Given the description of an element on the screen output the (x, y) to click on. 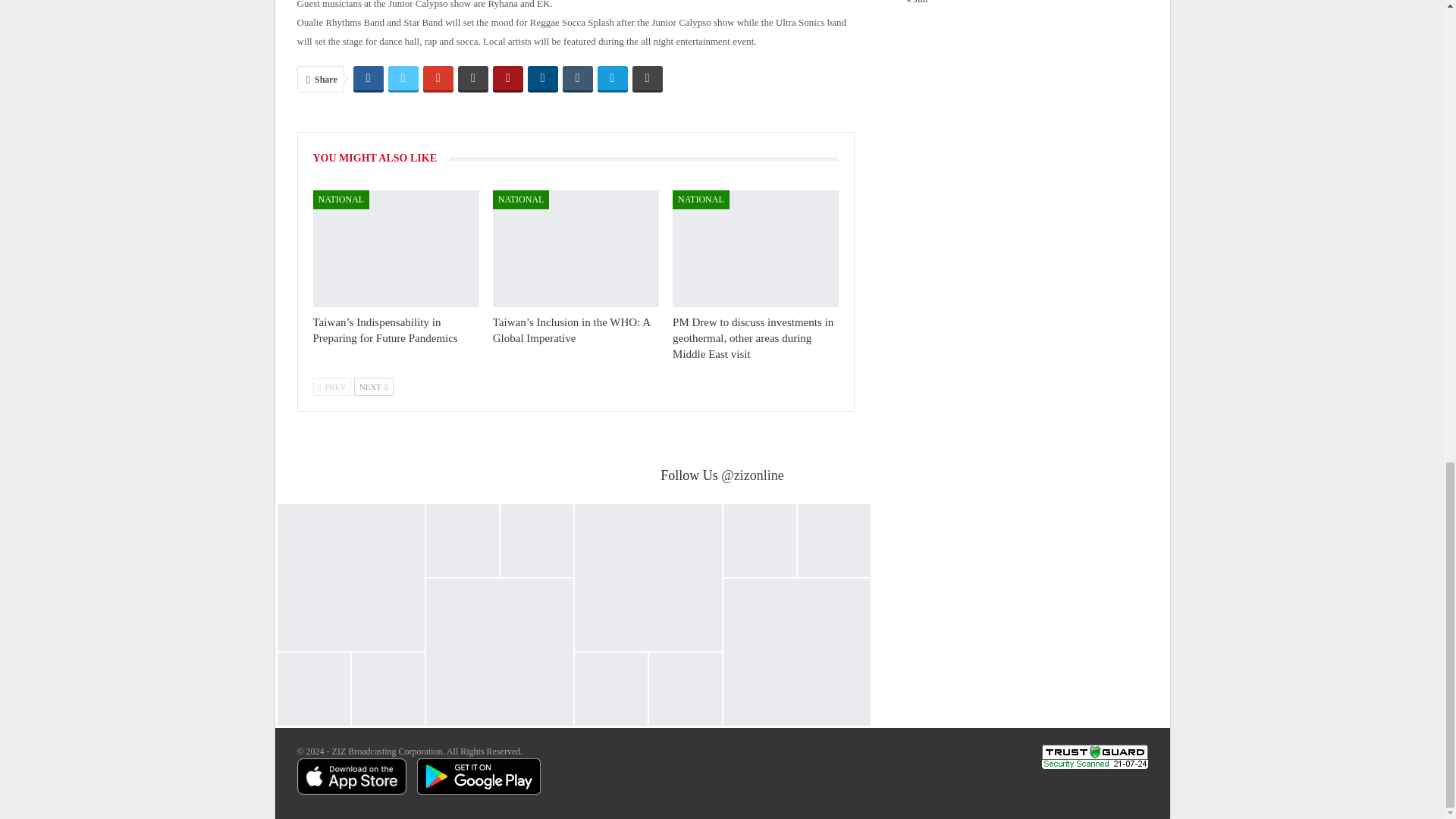
Previous (331, 386)
Next (373, 386)
